Given the description of an element on the screen output the (x, y) to click on. 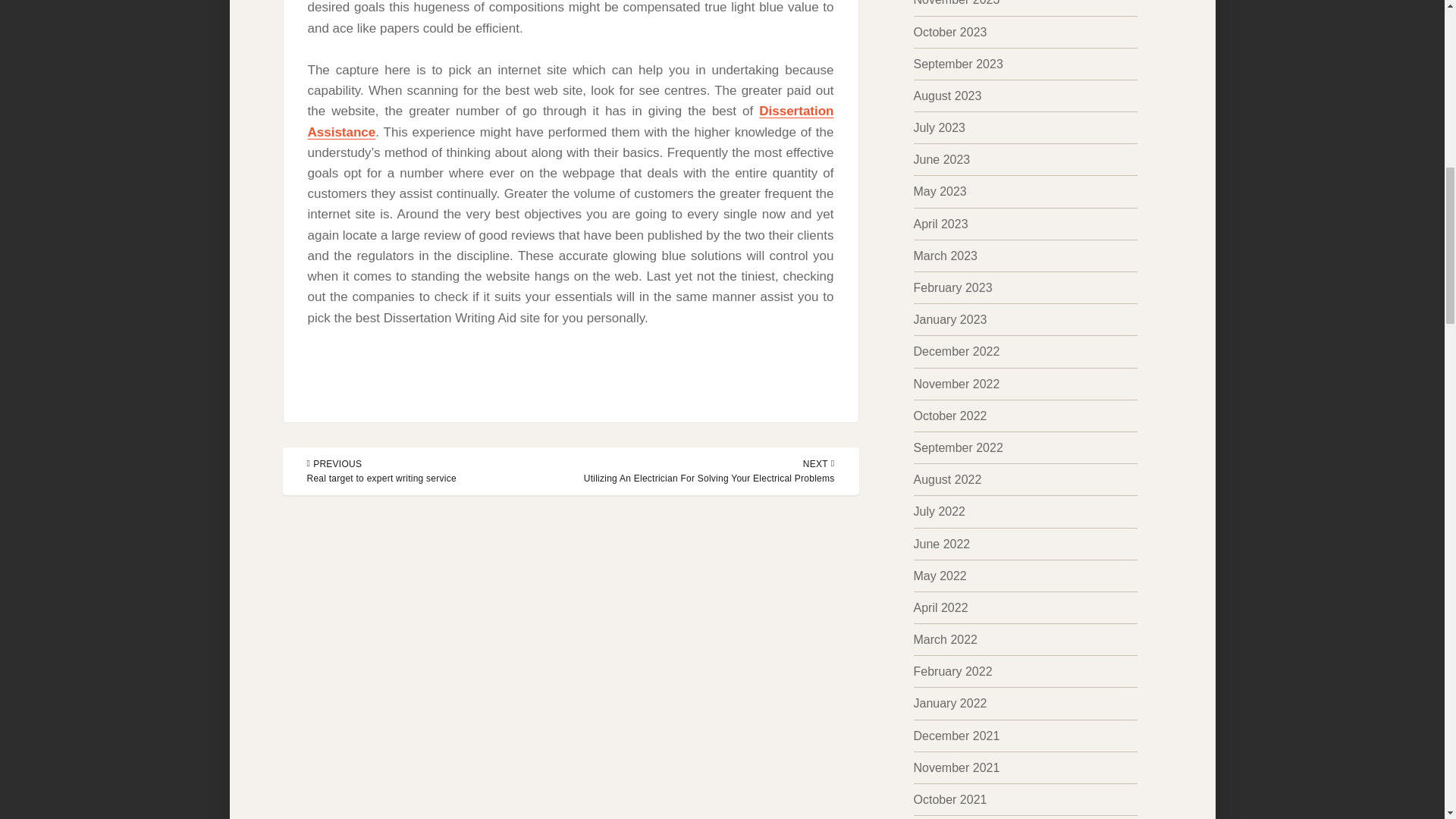
March 2023 (944, 255)
September 2023 (957, 63)
February 2023 (951, 287)
May 2023 (939, 191)
July 2023 (938, 127)
June 2023 (940, 159)
August 2023 (946, 95)
April 2023 (940, 223)
